Given the description of an element on the screen output the (x, y) to click on. 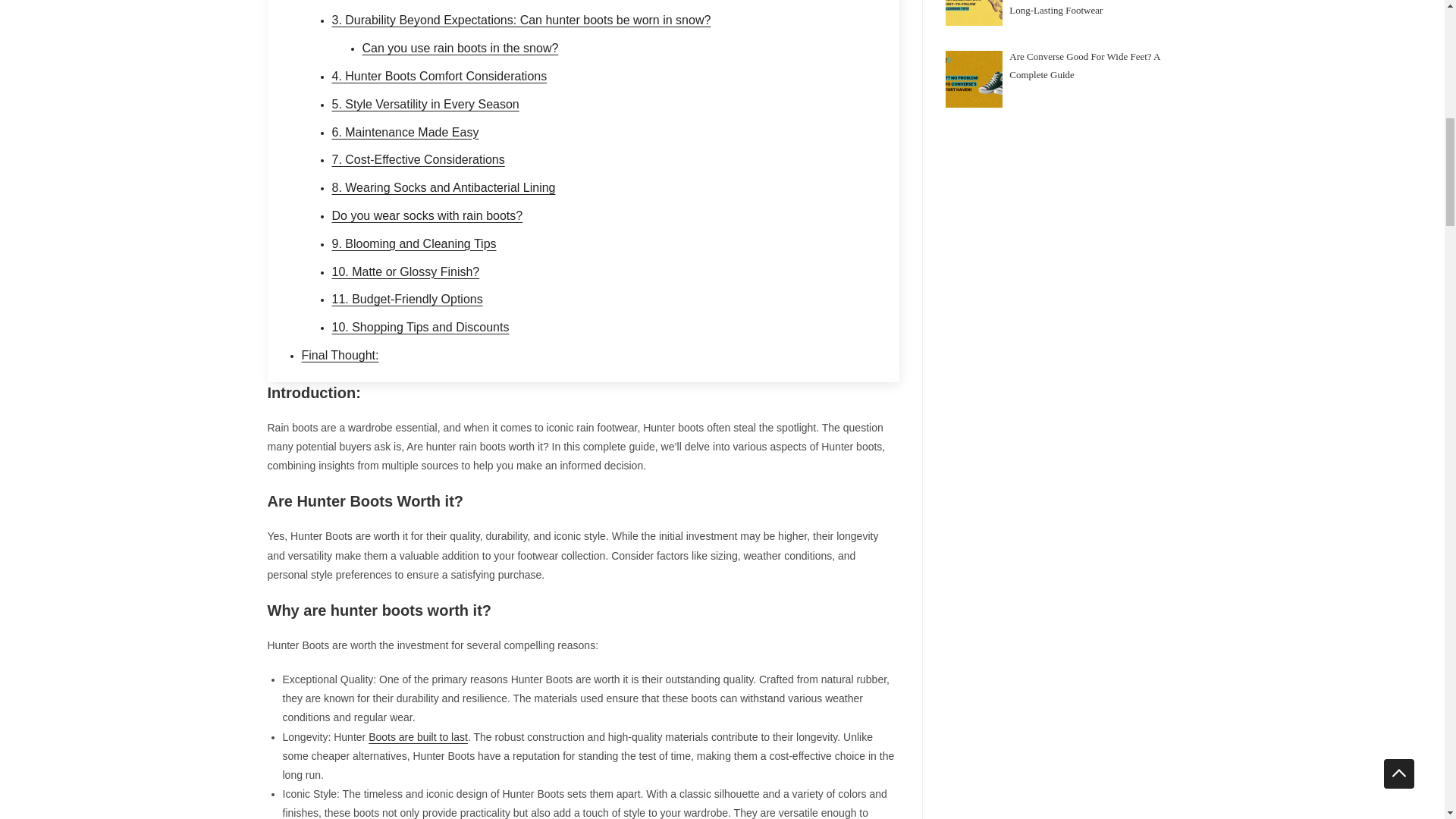
Can you use rain boots in the snow? (460, 47)
8. Wearing Socks and Antibacterial Lining (443, 187)
11. Budget-Friendly Options (407, 298)
9. Blooming and Cleaning Tips (413, 243)
7. Cost-Effective Considerations (418, 159)
6. Maintenance Made Easy (405, 132)
4. Hunter Boots Comfort Considerations (439, 75)
5. Style Versatility in Every Season (425, 103)
Do you wear socks with rain boots? (426, 215)
10. Matte or Glossy Finish? (405, 271)
